Given the description of an element on the screen output the (x, y) to click on. 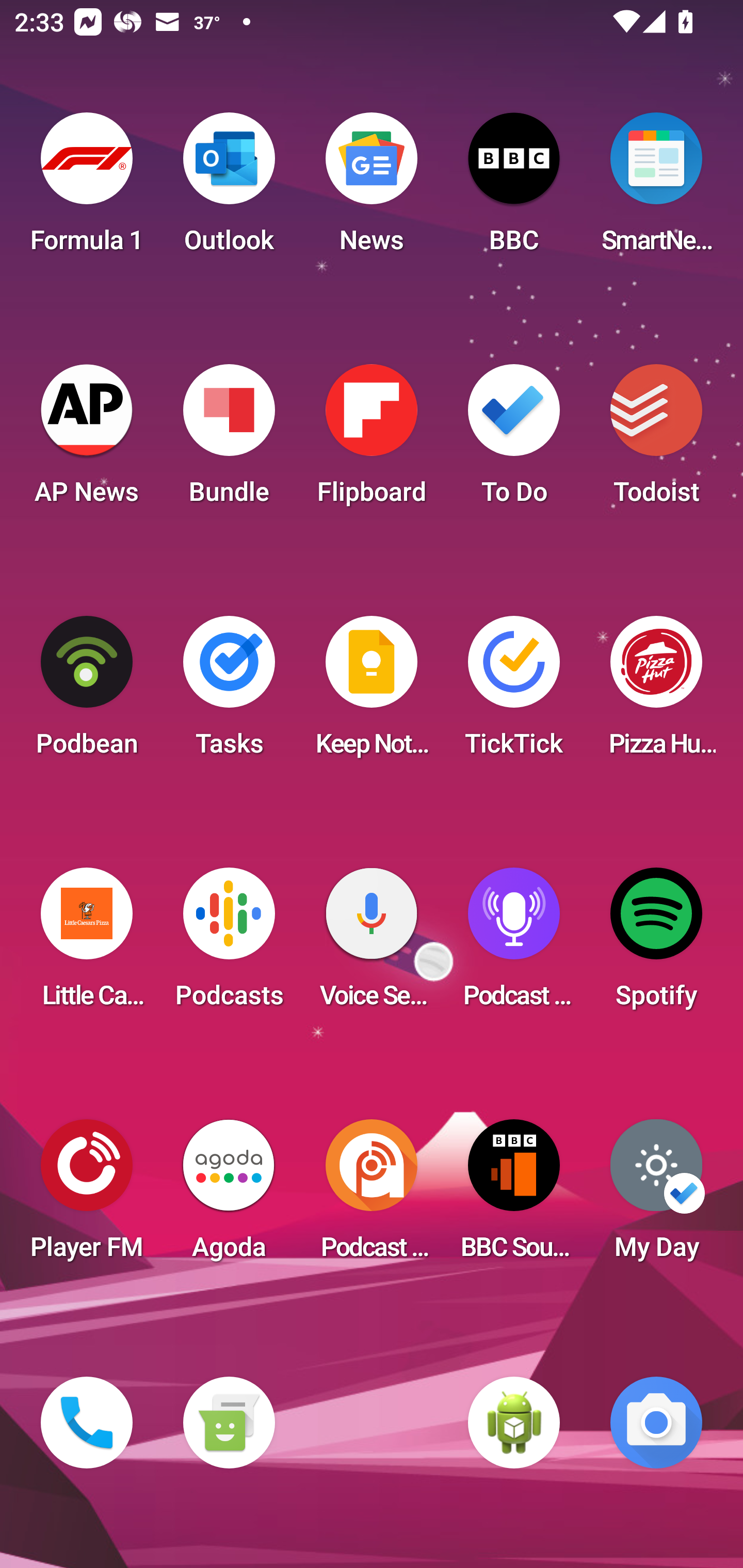
Formula 1 (86, 188)
Outlook (228, 188)
News (371, 188)
BBC (513, 188)
SmartNews (656, 188)
AP News (86, 440)
Bundle (228, 440)
Flipboard (371, 440)
To Do (513, 440)
Todoist (656, 440)
Podbean (86, 692)
Tasks (228, 692)
Keep Notes (371, 692)
TickTick (513, 692)
Pizza Hut HK & Macau (656, 692)
Little Caesars Pizza (86, 943)
Podcasts (228, 943)
Voice Search (371, 943)
Podcast Player (513, 943)
Spotify (656, 943)
Player FM (86, 1195)
Agoda (228, 1195)
Podcast Addict (371, 1195)
BBC Sounds (513, 1195)
My Day (656, 1195)
Phone (86, 1422)
Messaging (228, 1422)
WebView Browser Tester (513, 1422)
Camera (656, 1422)
